Given the description of an element on the screen output the (x, y) to click on. 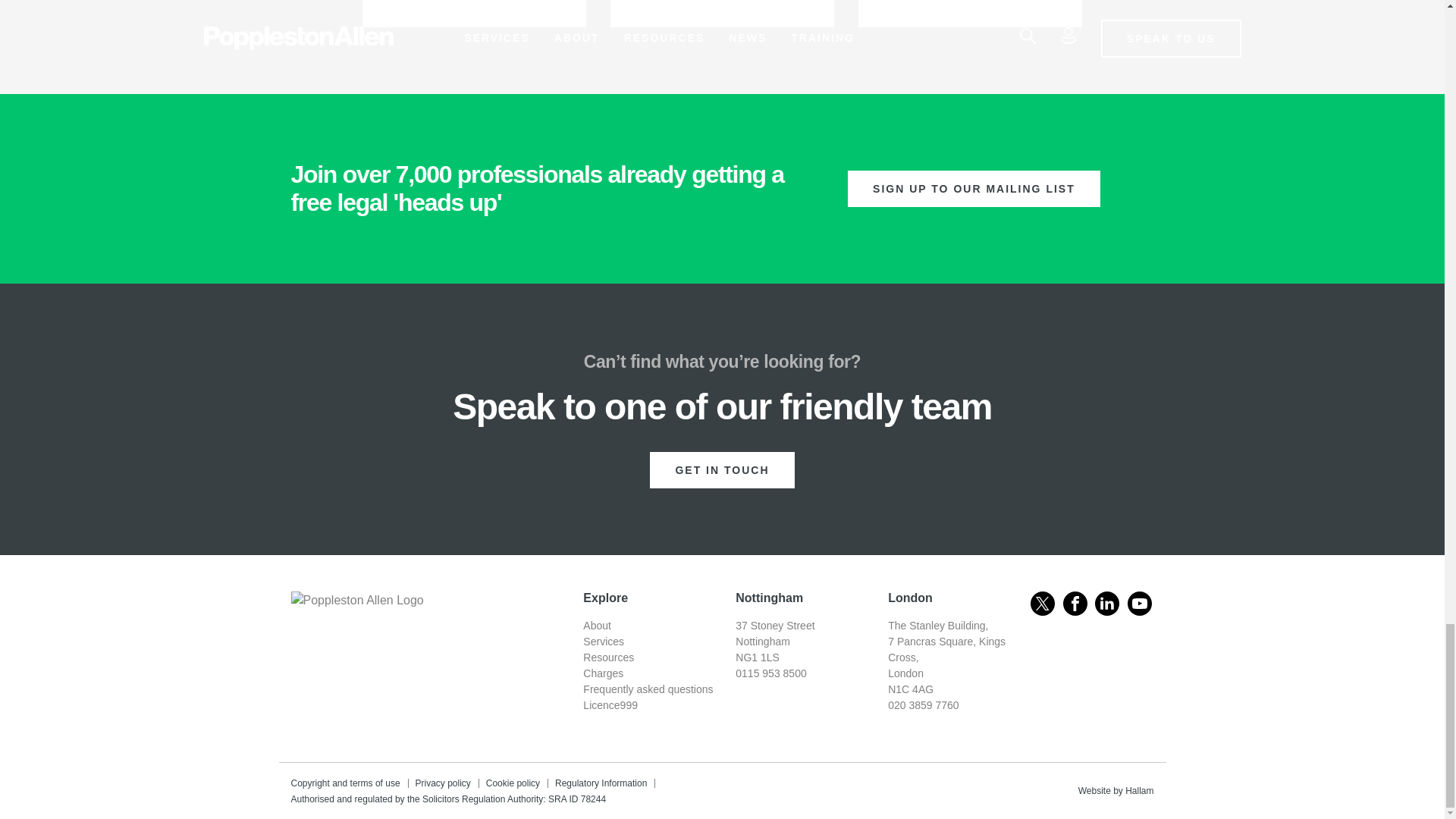
YouTube (1138, 603)
Facebook (1074, 603)
Twitter (1042, 603)
LinkedIn (1106, 603)
